Given the description of an element on the screen output the (x, y) to click on. 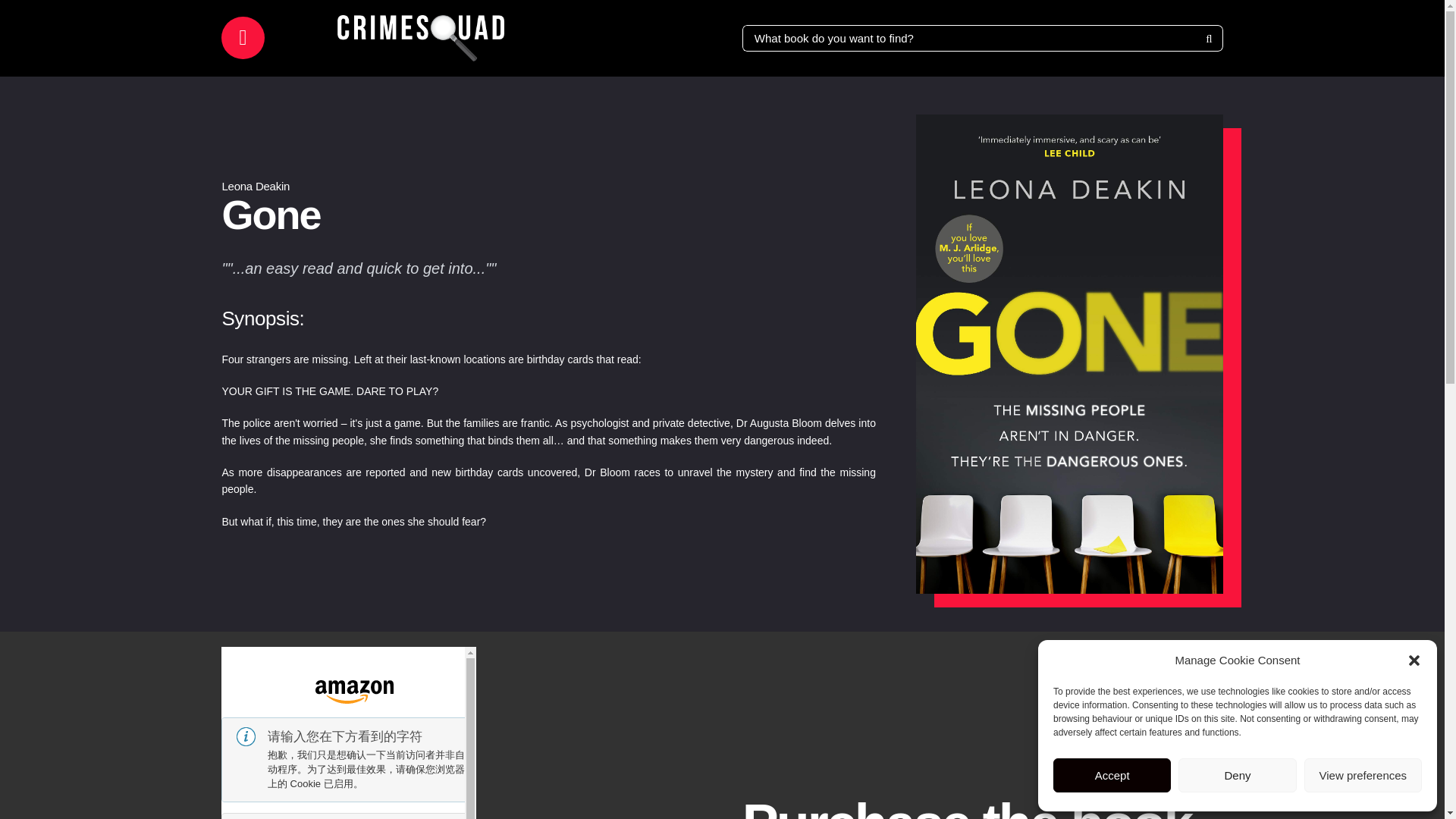
Deny (1236, 775)
Accept (1111, 775)
View preferences (1363, 775)
